Given the description of an element on the screen output the (x, y) to click on. 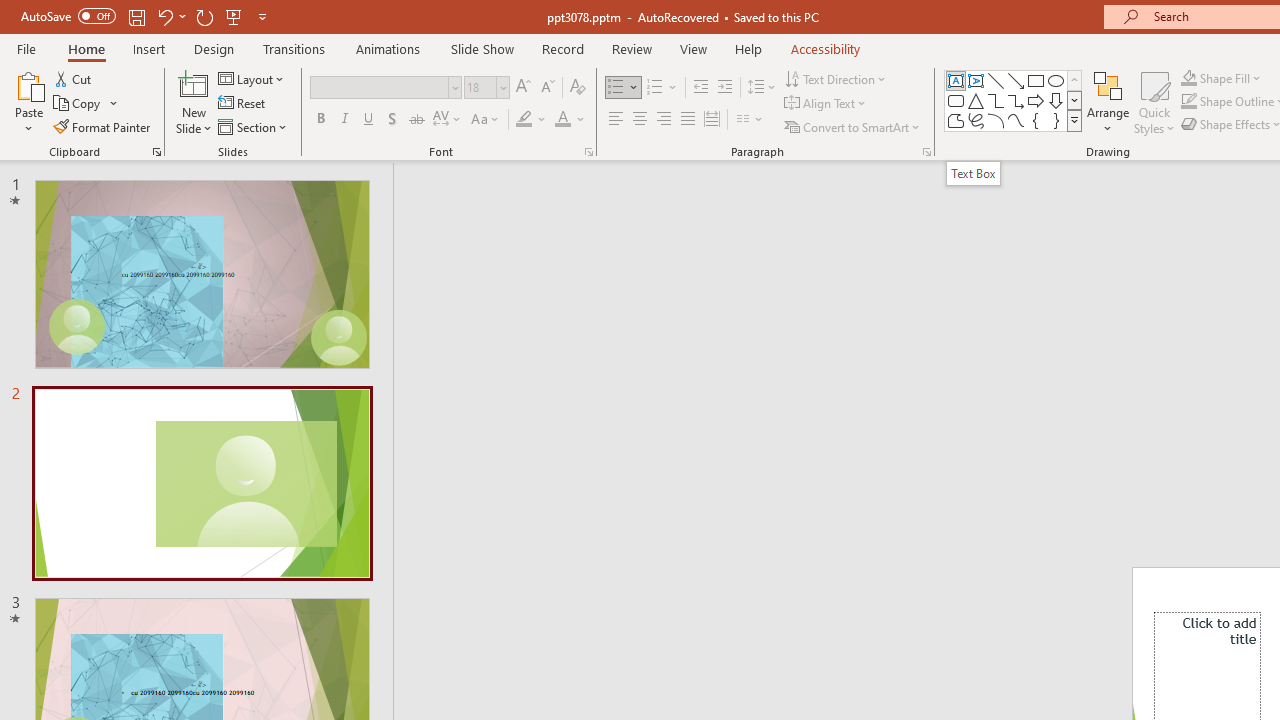
Shape Fill Dark Green, Accent 2 (1188, 78)
